Given the description of an element on the screen output the (x, y) to click on. 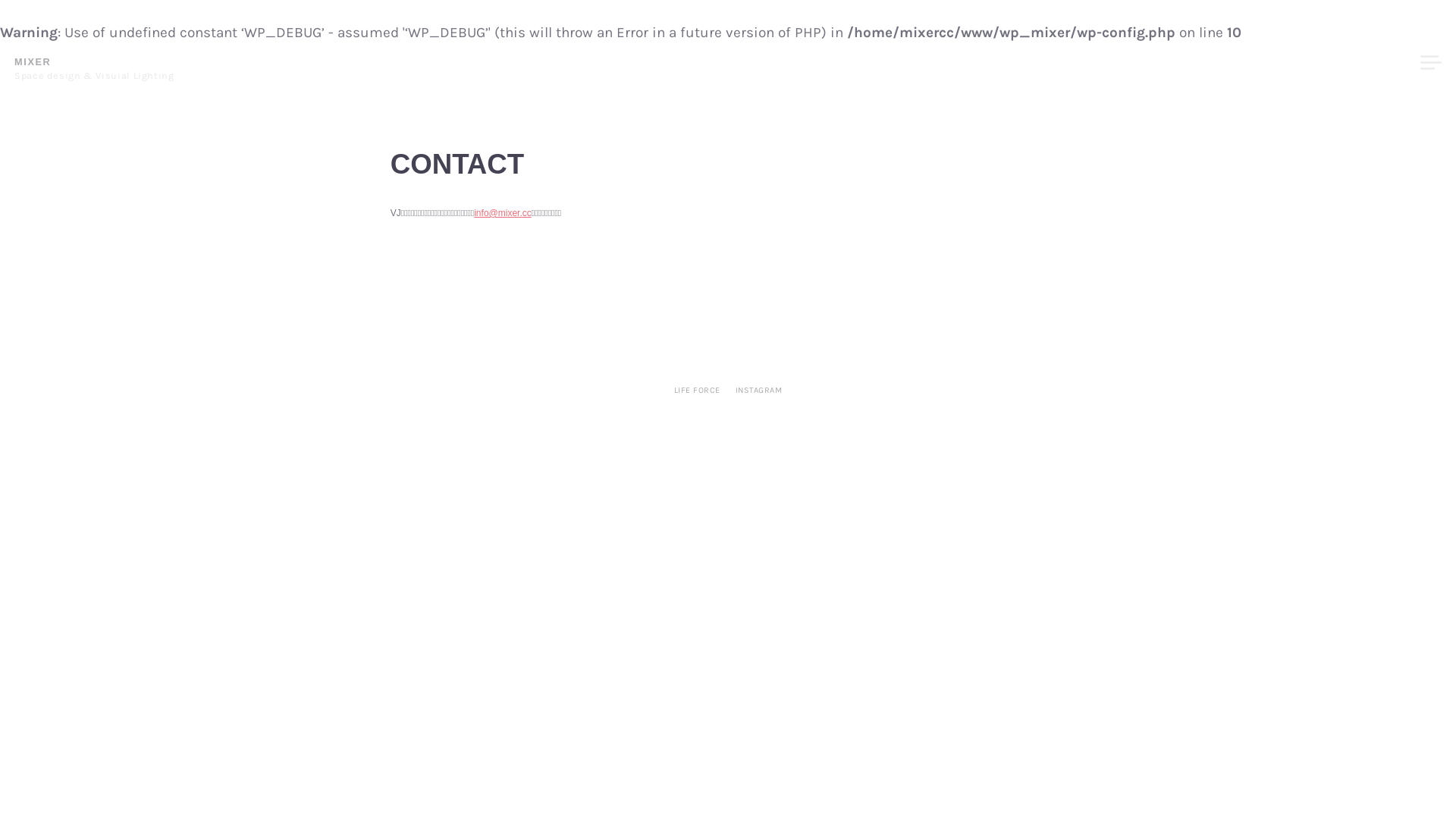
MIXER Element type: text (32, 61)
LIFE FORCE Element type: text (697, 390)
info@mixer.cc Element type: text (502, 212)
INSTAGRAM Element type: text (758, 390)
